Given the description of an element on the screen output the (x, y) to click on. 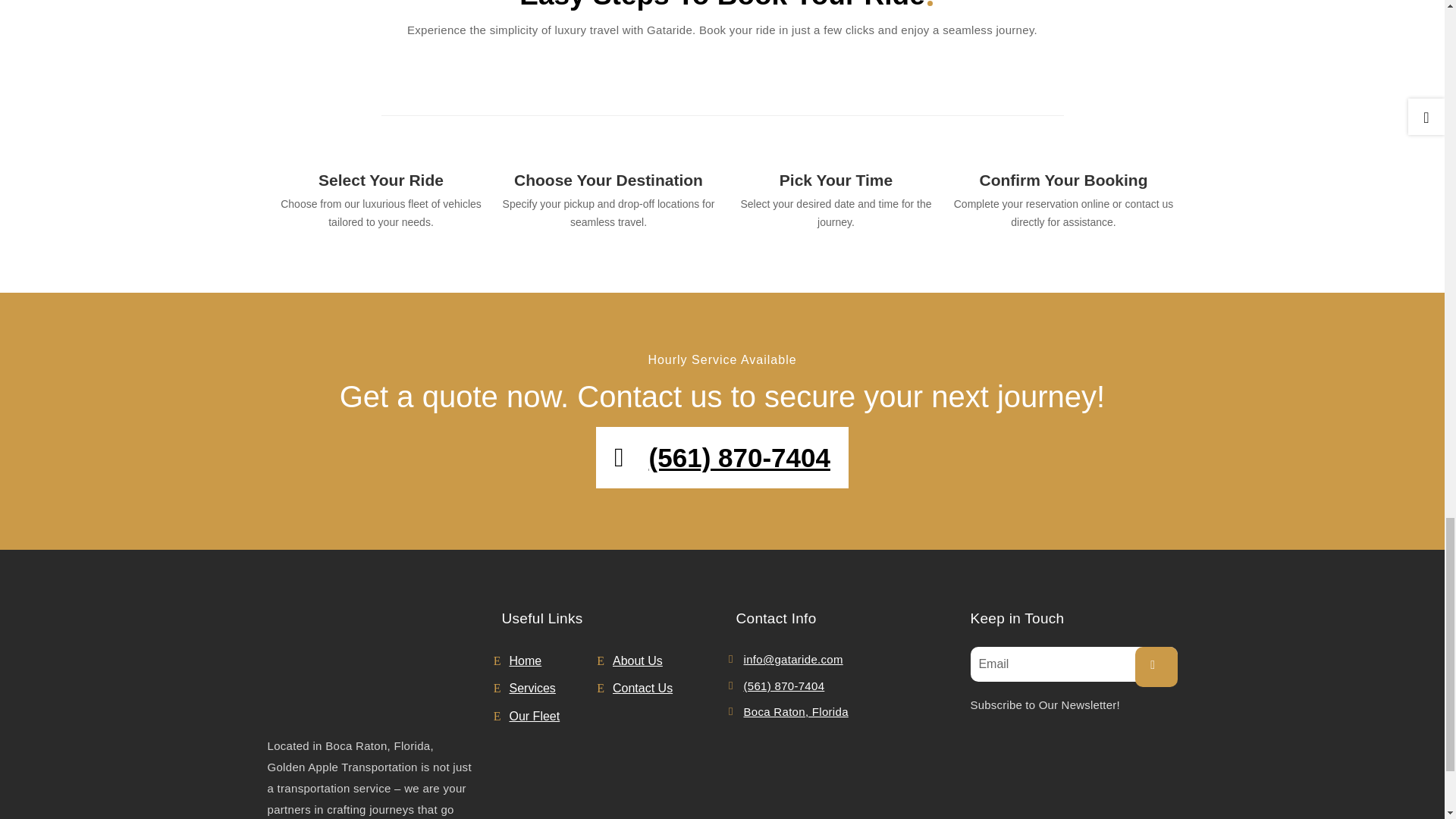
Contact Us (657, 688)
Subscribe (1155, 667)
Boca Raton, Florida (795, 712)
Home (553, 660)
About Us (657, 660)
Our Fleet (553, 715)
Services (553, 688)
